Given the description of an element on the screen output the (x, y) to click on. 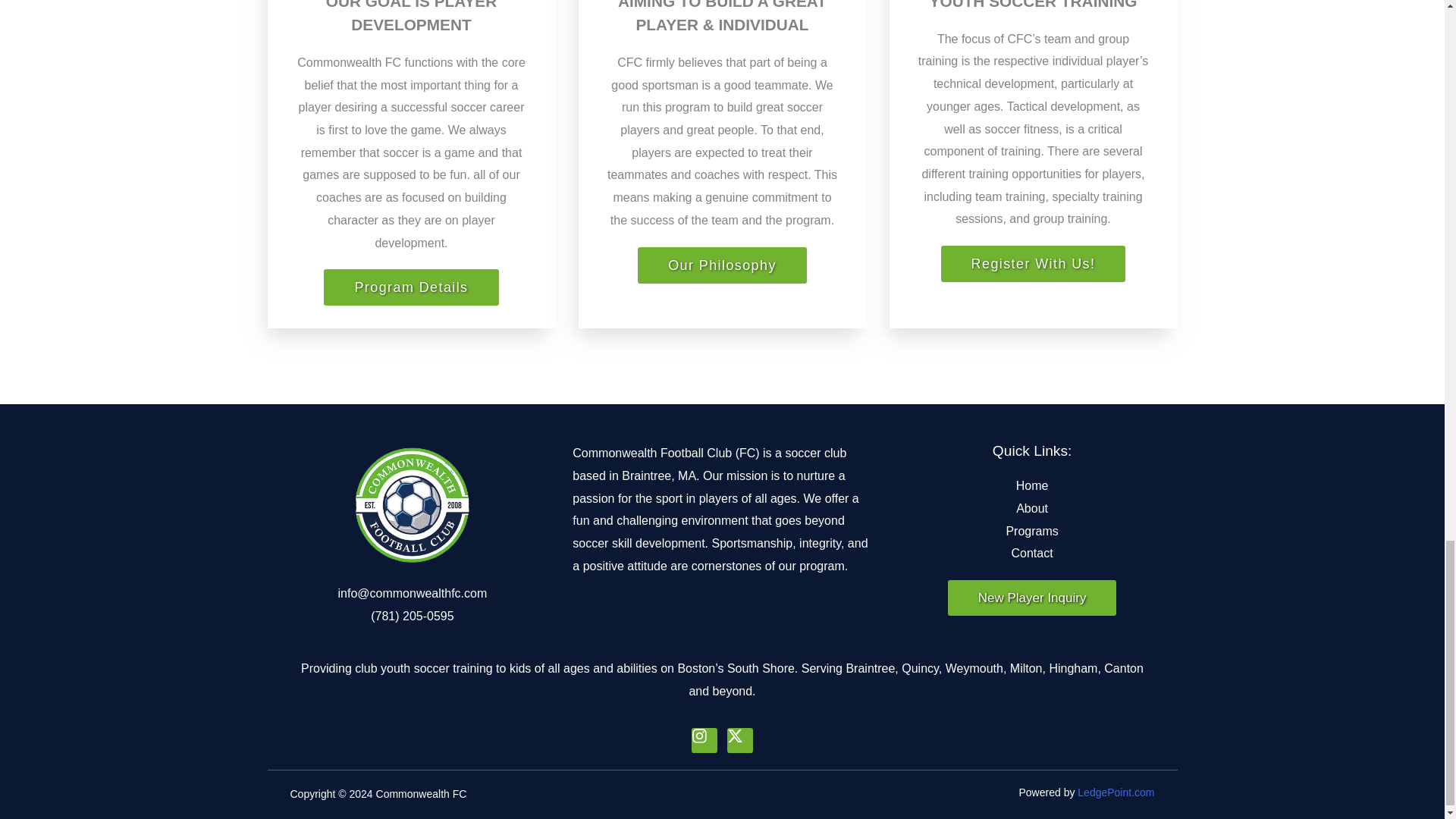
Contact (1031, 553)
Program Details (410, 287)
X-twitter (739, 740)
Register With Us! (1032, 263)
LedgePoint.com (1115, 792)
Our Philosophy (721, 265)
Programs (1031, 531)
Home (1031, 486)
Instagram (704, 740)
About (1031, 508)
New Player Inquiry (1031, 597)
